Given the description of an element on the screen output the (x, y) to click on. 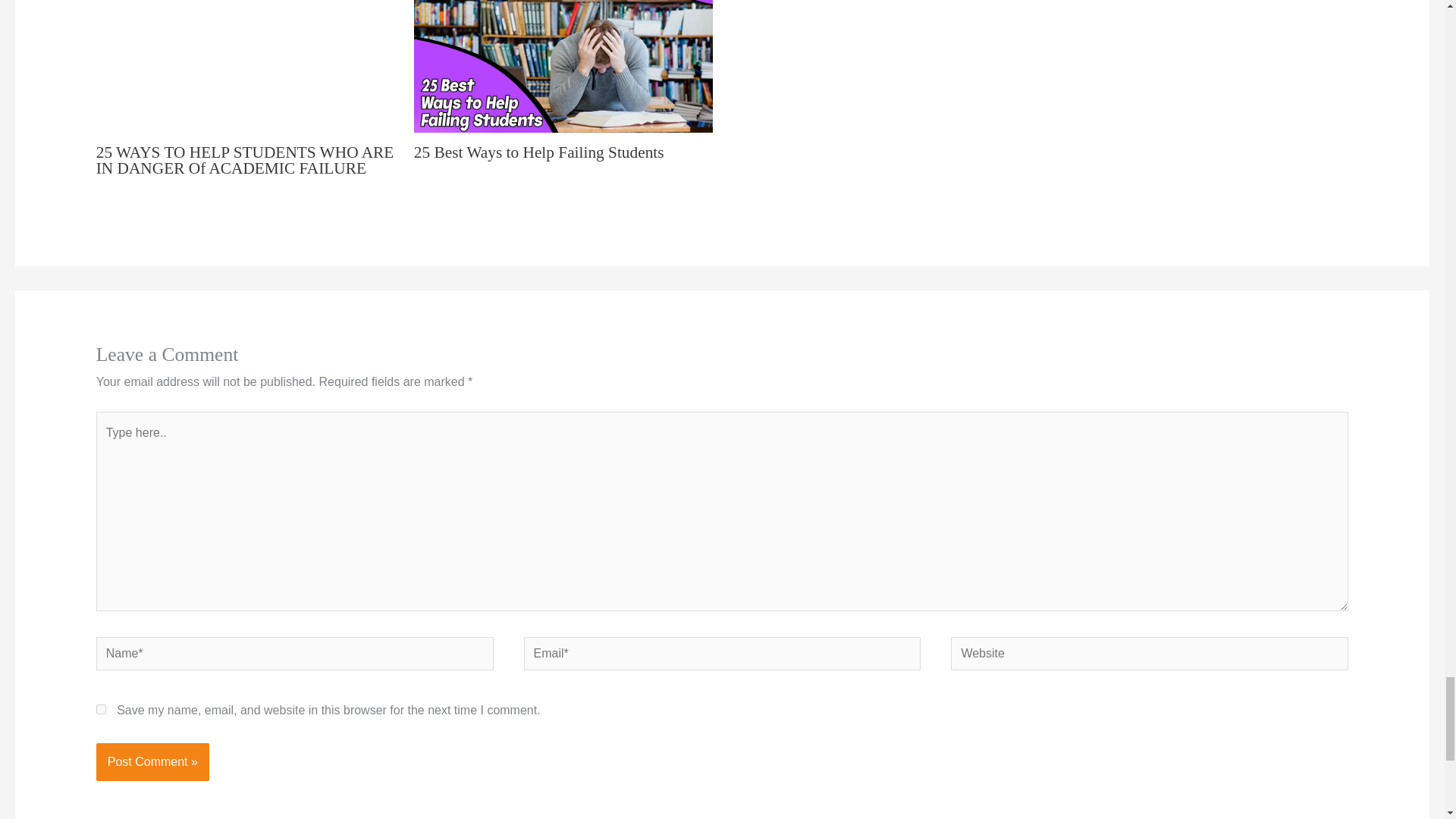
yes (101, 709)
